Given the description of an element on the screen output the (x, y) to click on. 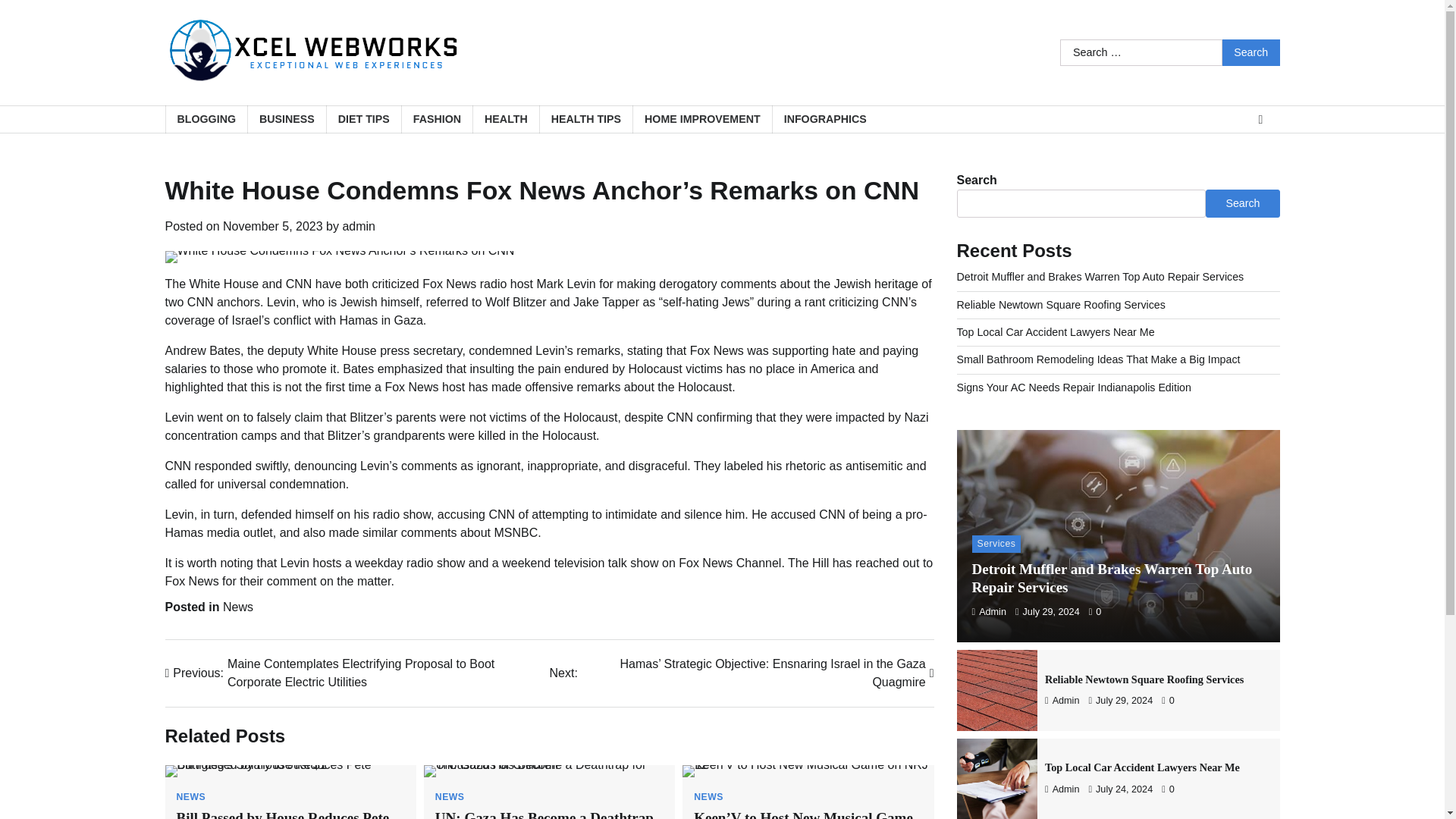
Small Bathroom Remodeling Ideas That Make a Big Impact (1098, 358)
INFOGRAPHICS (824, 119)
Detroit Muffler and Brakes Warren Top Auto Repair Services (1112, 578)
HOME IMPROVEMENT (701, 119)
BLOGGING (206, 119)
NEWS (708, 796)
Services (997, 543)
Top Local Car Accident Lawyers Near Me (1055, 331)
HEALTH (504, 119)
November 5, 2023 (272, 226)
